Given the description of an element on the screen output the (x, y) to click on. 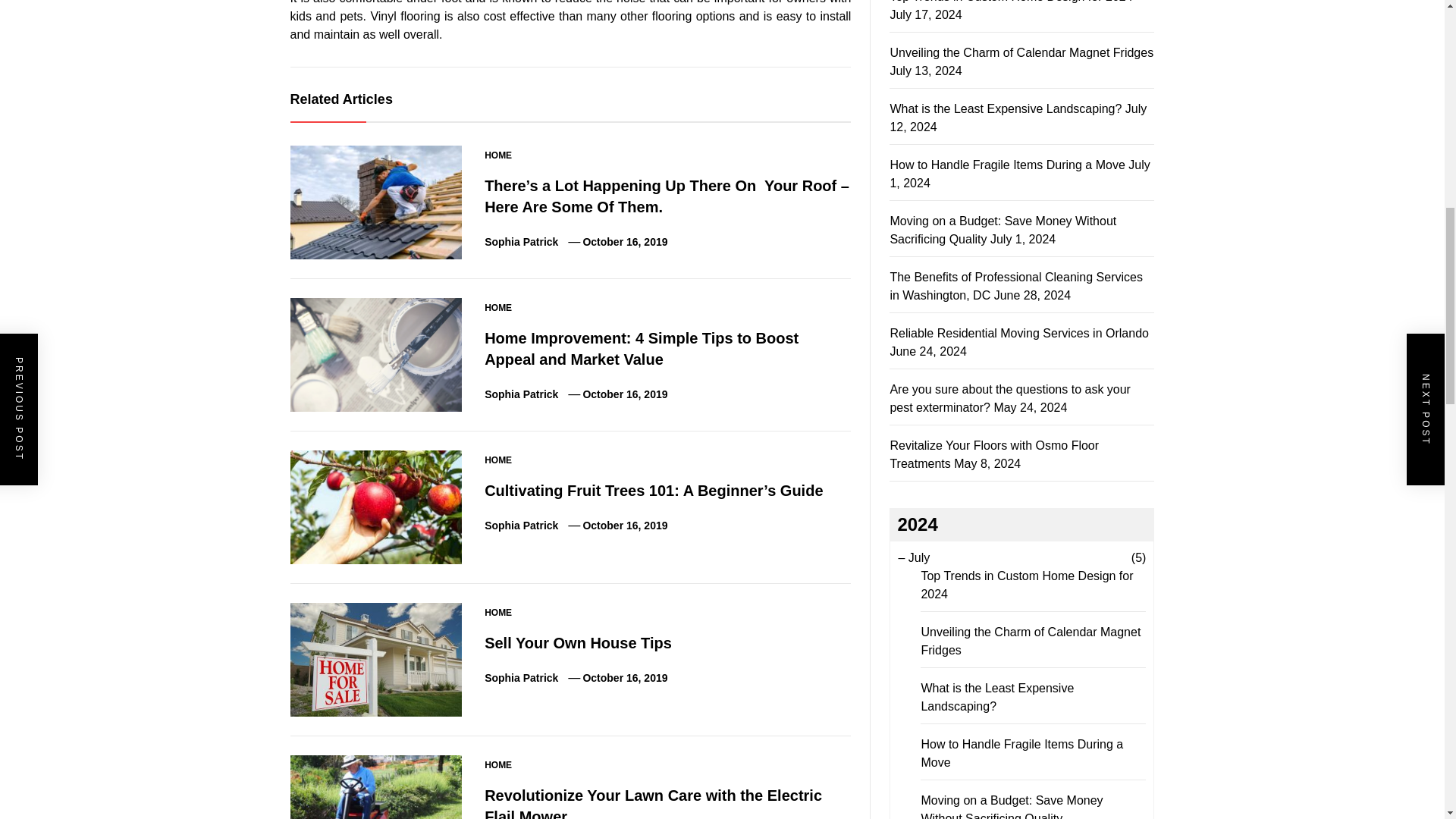
October 16, 2019 (624, 394)
HOME (498, 155)
HOME (498, 307)
October 16, 2019 (624, 241)
Sell Your Own House Tips (577, 642)
Sophia Patrick (520, 394)
Sophia Patrick (520, 525)
HOME (498, 459)
Sophia Patrick (520, 241)
October 16, 2019 (624, 525)
HOME (498, 612)
